Given the description of an element on the screen output the (x, y) to click on. 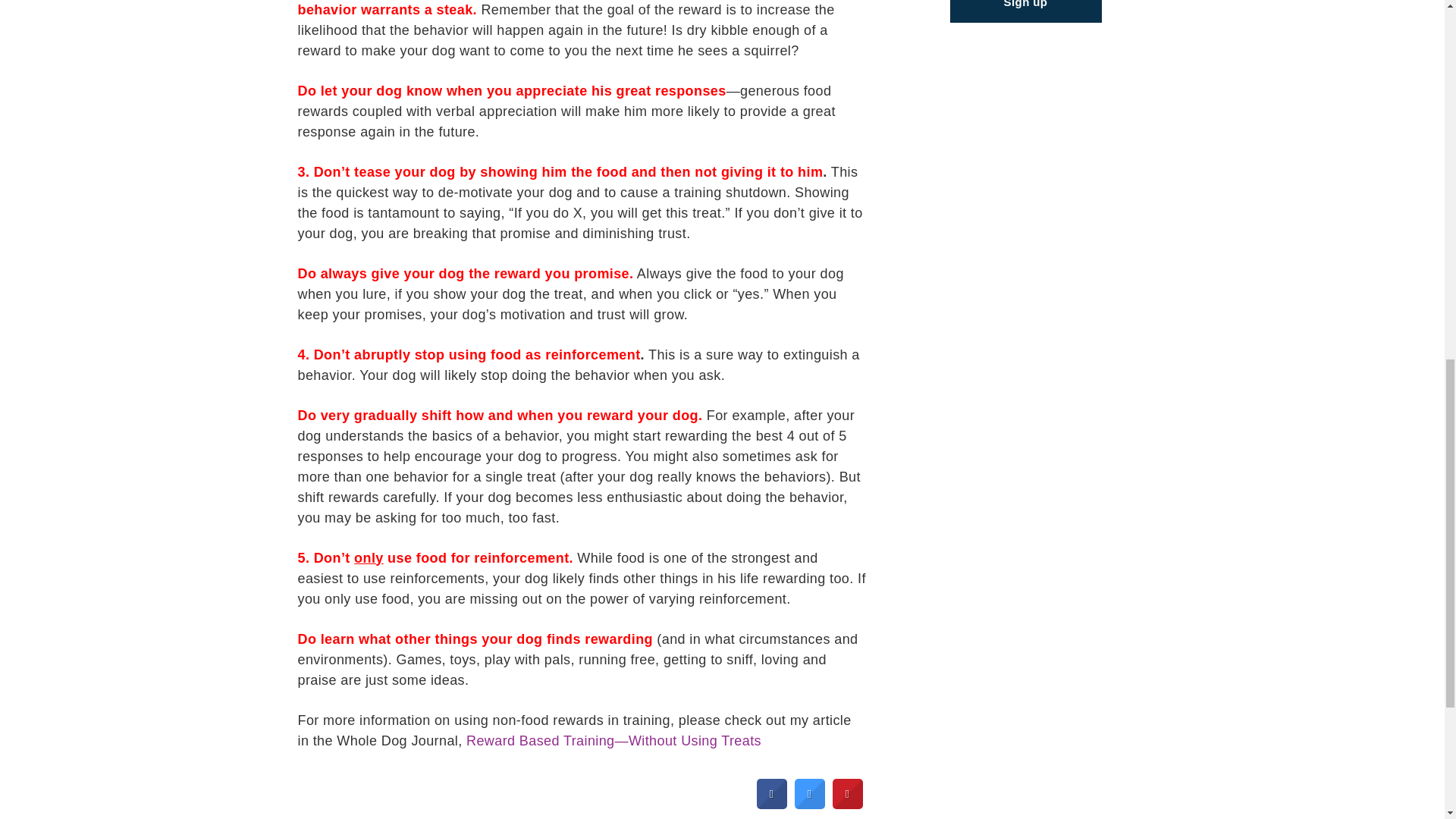
Share on Pinterest (847, 803)
Share on Twitter (809, 803)
Share on Facebook (772, 803)
Sign up (1024, 11)
